Given the description of an element on the screen output the (x, y) to click on. 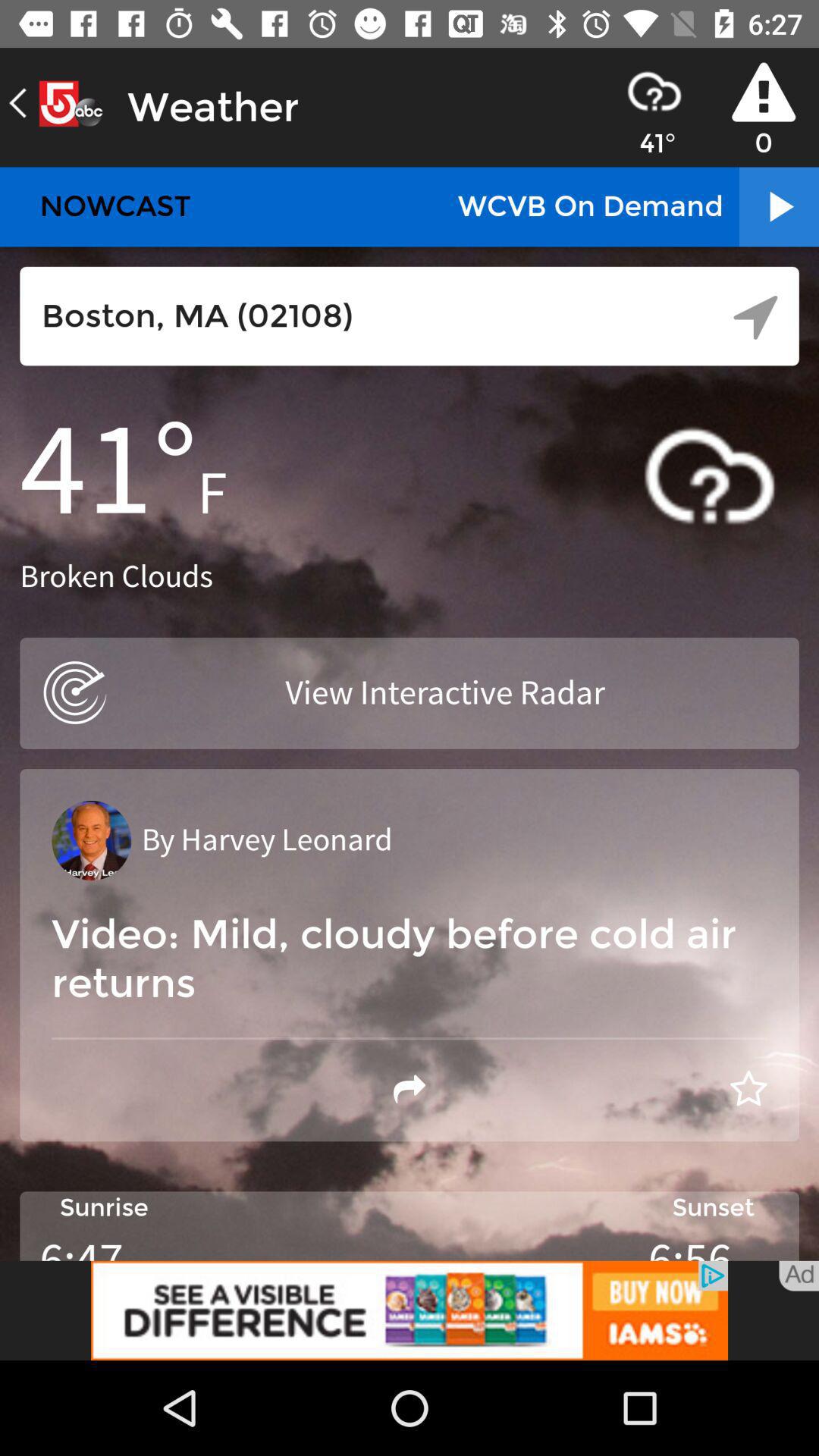
click on ad (799, 1275)
click on the favorite icon (748, 1089)
select the text below by harvey leonard (409, 959)
